Given the description of an element on the screen output the (x, y) to click on. 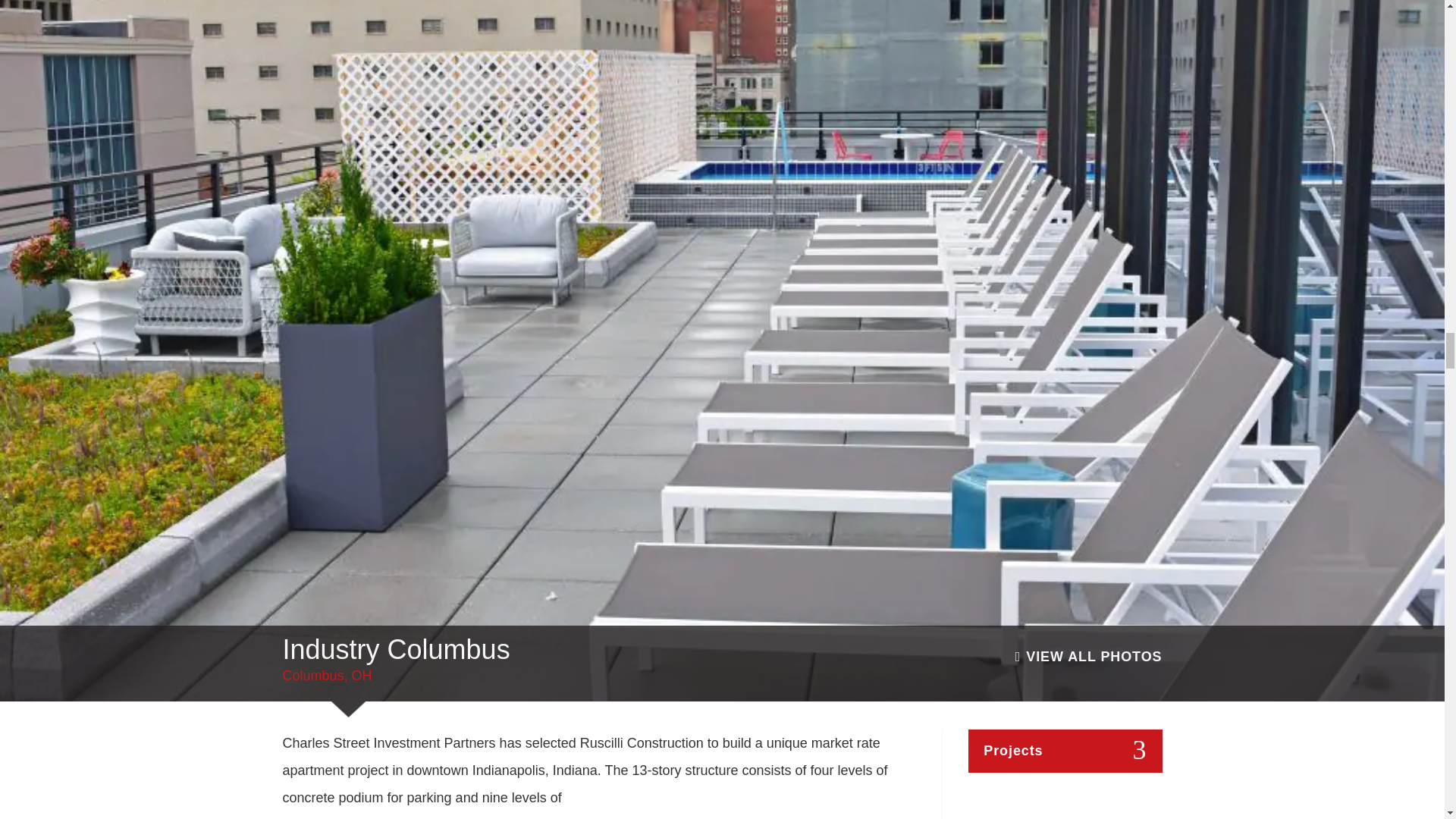
VIEW ALL PHOTOS (1087, 657)
